Given the description of an element on the screen output the (x, y) to click on. 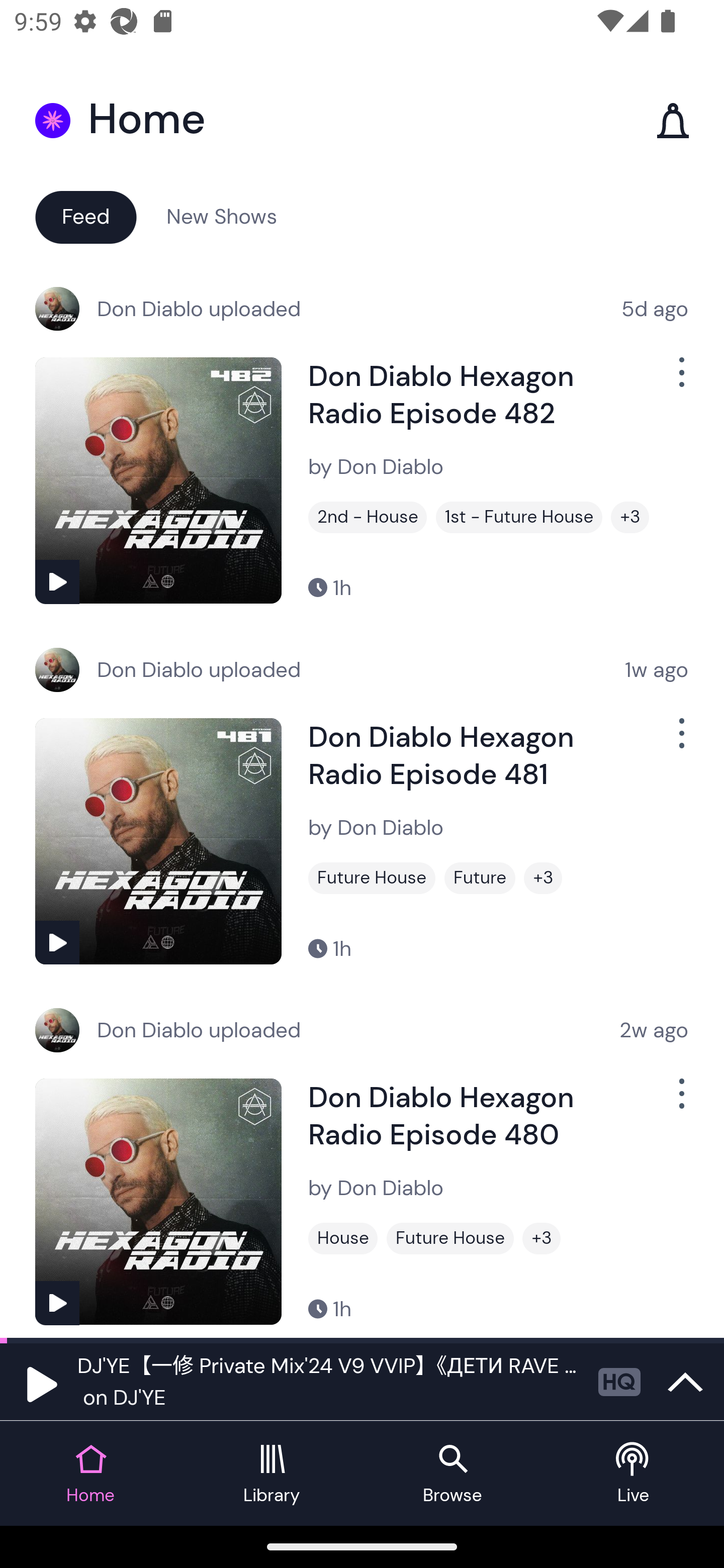
Feed (85, 216)
New Shows (221, 216)
Show Options Menu Button (679, 379)
2nd - House (367, 517)
1st - Future House (518, 517)
Show Options Menu Button (679, 740)
Future House (371, 877)
Future (479, 877)
Show Options Menu Button (679, 1101)
House (342, 1238)
Future House (450, 1238)
Home tab Home (90, 1473)
Library tab Library (271, 1473)
Browse tab Browse (452, 1473)
Live tab Live (633, 1473)
